Given the description of an element on the screen output the (x, y) to click on. 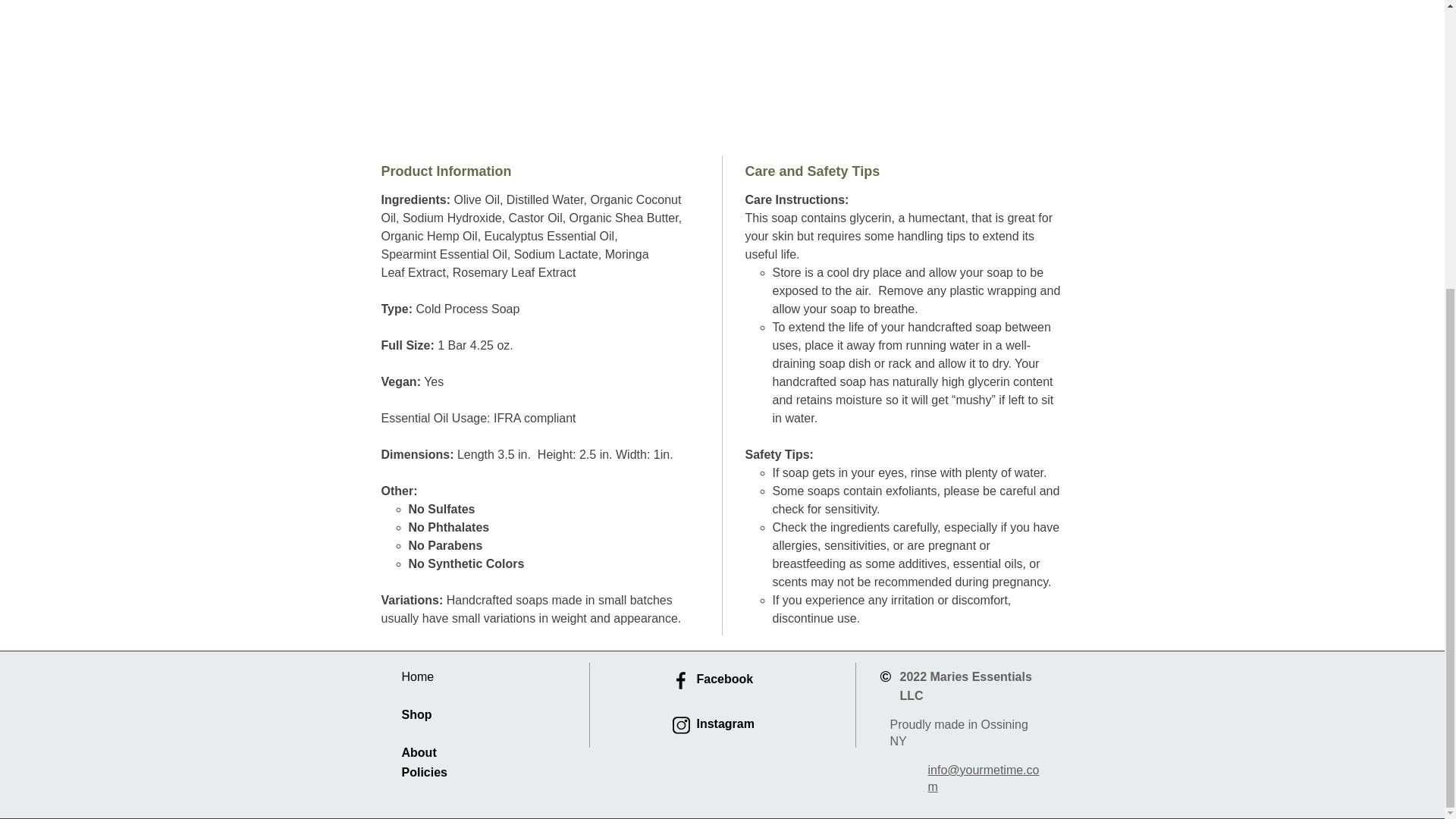
Home (417, 676)
Shop (416, 714)
Proudly made in Ossining NY (958, 732)
About (418, 752)
Policies (423, 771)
